Given the description of an element on the screen output the (x, y) to click on. 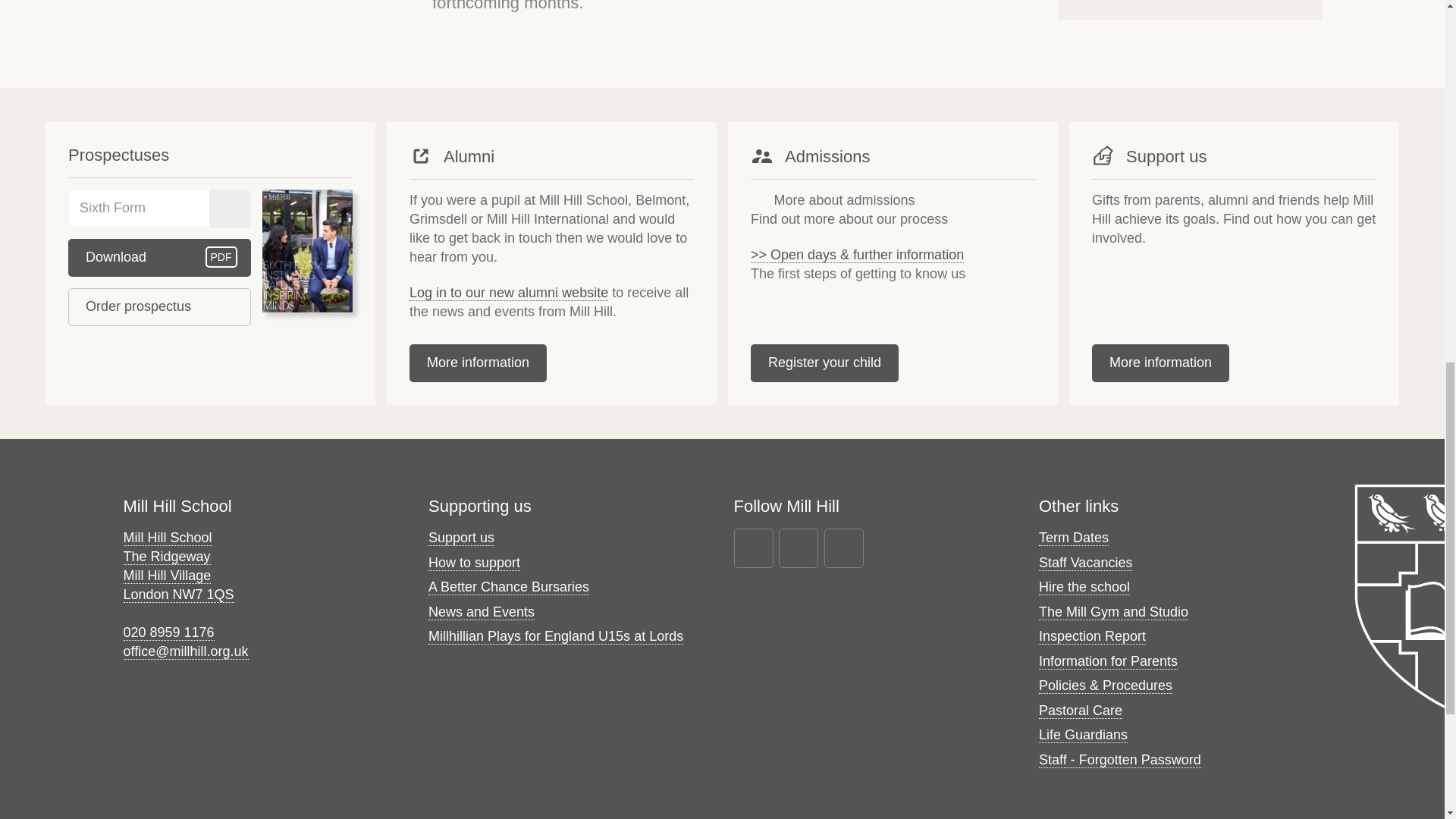
Order prospectus (159, 306)
More about admissions (832, 200)
Log in to our new alumni website (159, 257)
More information (508, 293)
More information (478, 362)
Register your child (1160, 362)
